Given the description of an element on the screen output the (x, y) to click on. 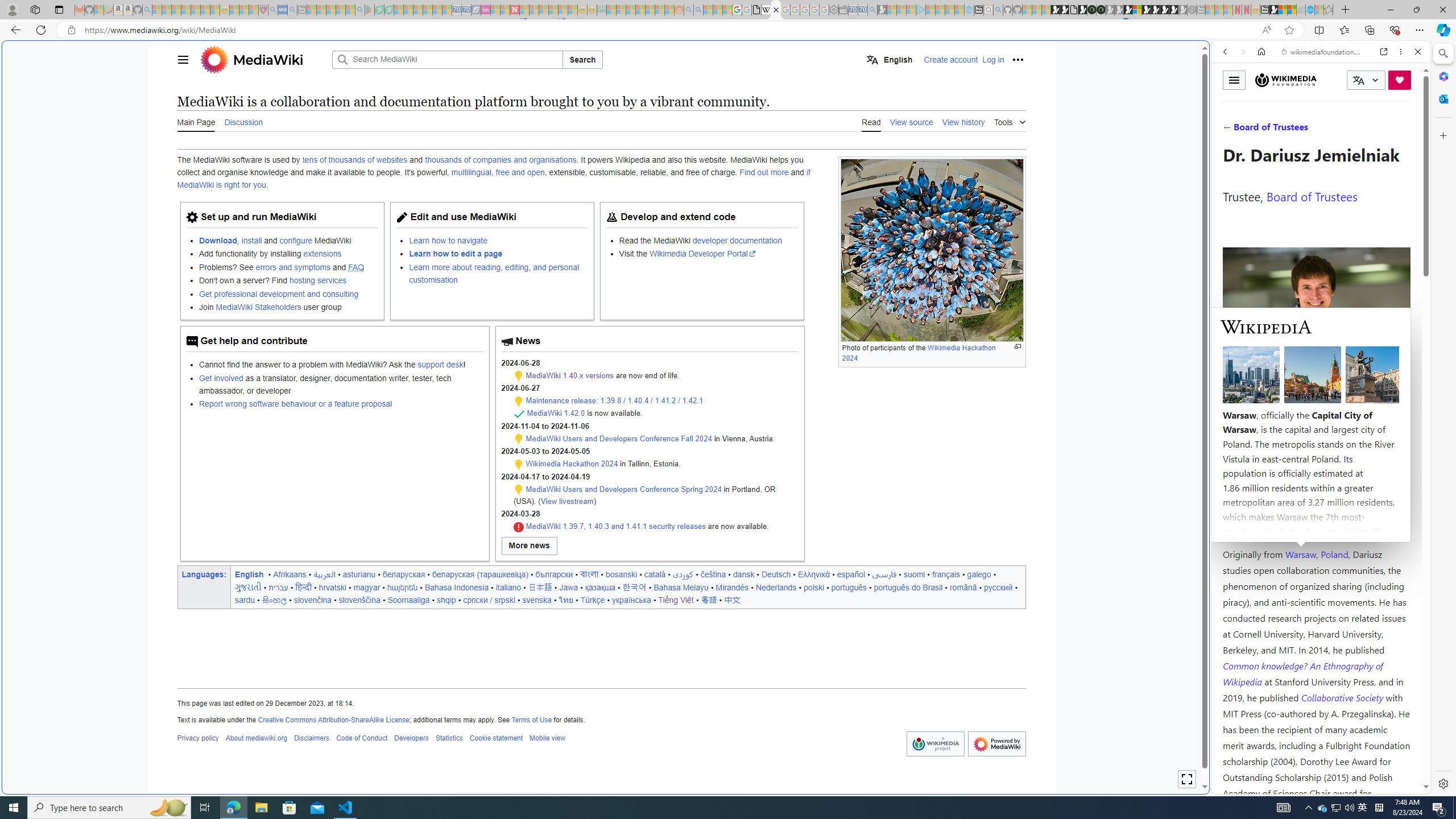
Bluey: Let's Play! - Apps on Google Play - Sleeping (369, 9)
Play Zoo Boom in your browser | Games from Microsoft Start (1064, 9)
Nederlands (775, 587)
Microsoft account | Privacy - Sleeping (910, 9)
dansk (743, 574)
WEB   (1230, 130)
World - MSN (727, 389)
Search Filter, VIDEOS (1300, 129)
Close split screen (1208, 57)
Discussion (243, 120)
